Given the description of an element on the screen output the (x, y) to click on. 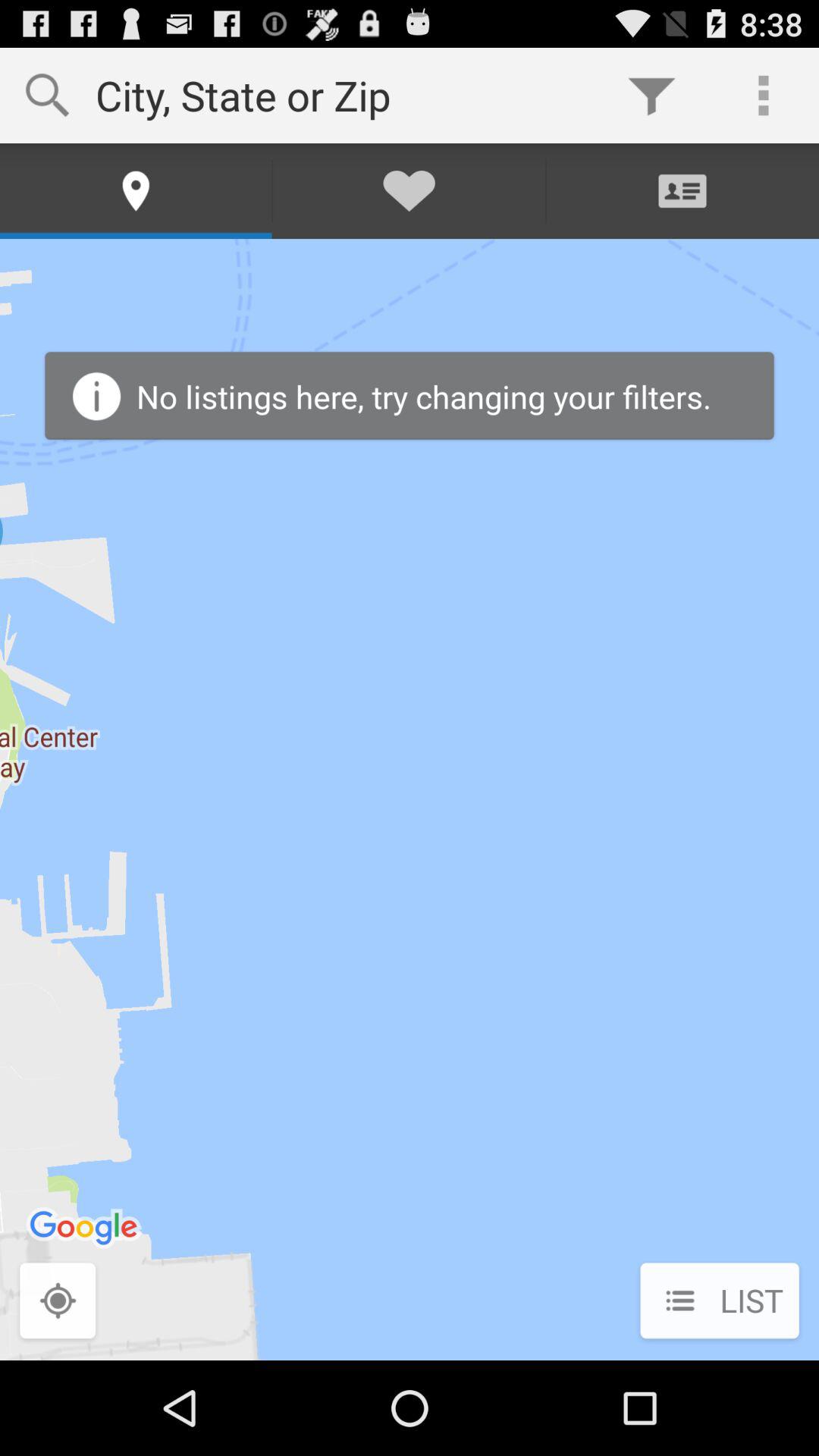
tap list at the bottom right corner (719, 1302)
